Given the description of an element on the screen output the (x, y) to click on. 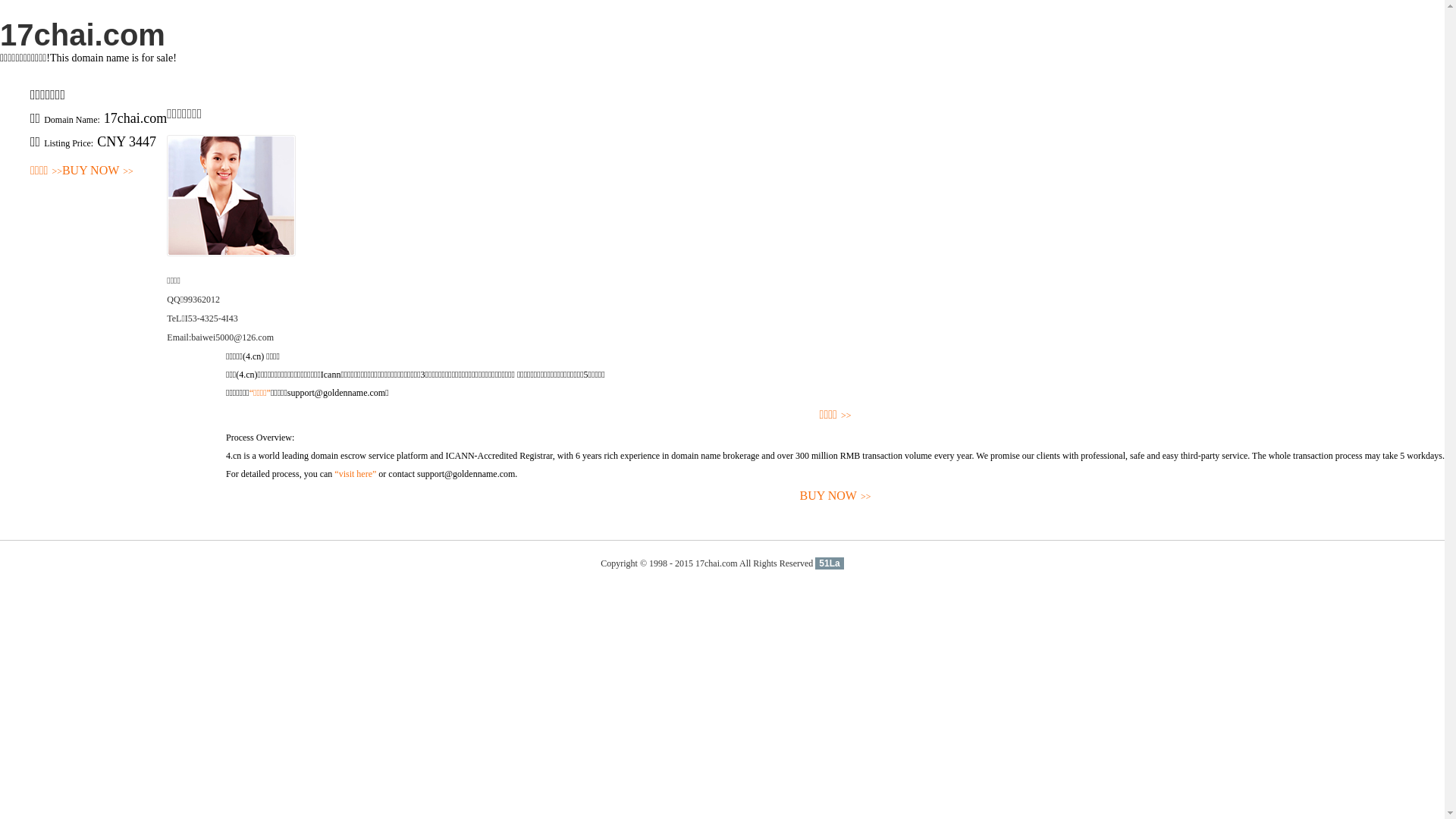
BUY NOW>> Element type: text (834, 496)
51La Element type: text (829, 563)
BUY NOW>> Element type: text (97, 170)
